Given the description of an element on the screen output the (x, y) to click on. 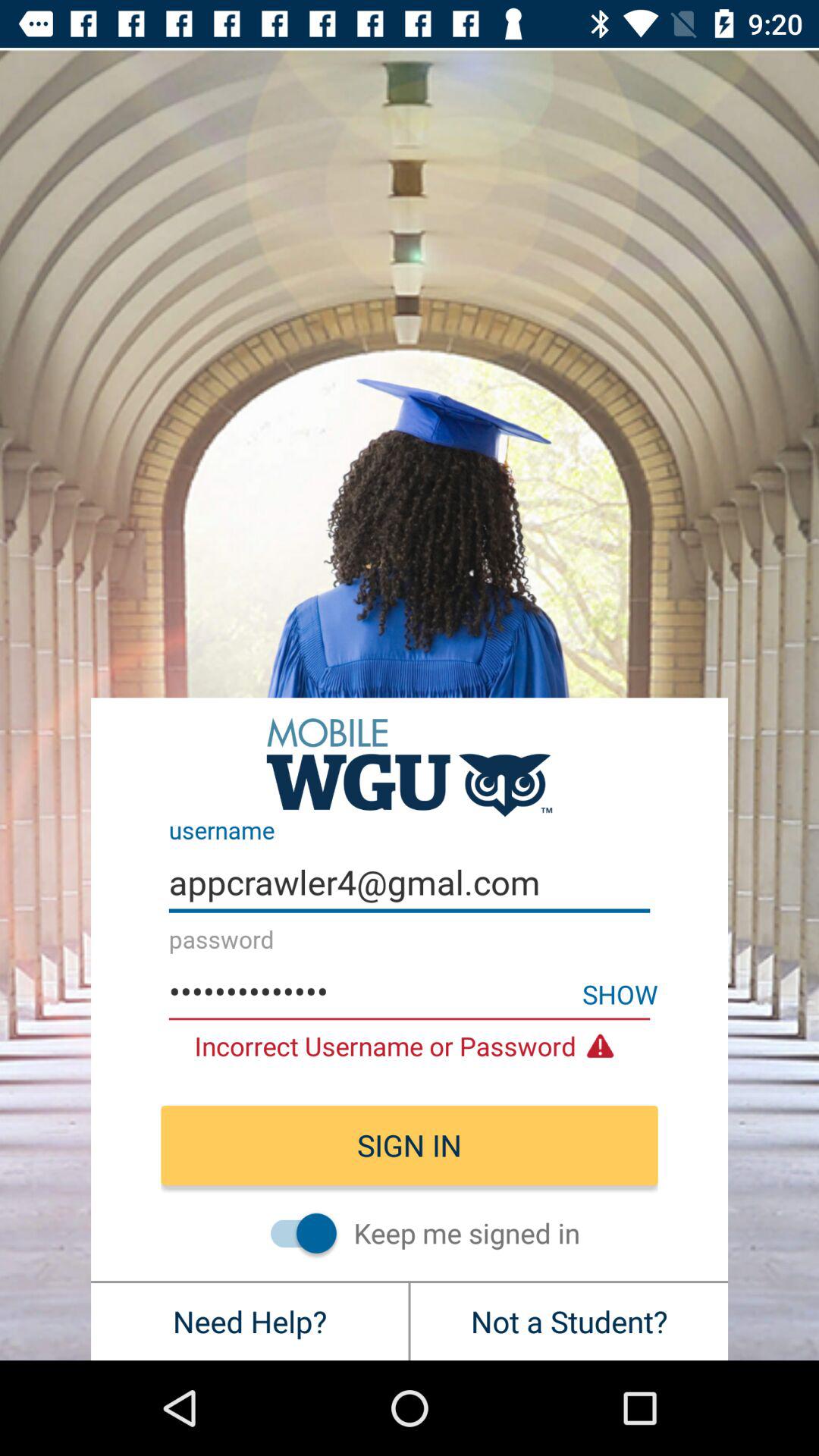
scroll to appcrawler4@gmal.com (409, 882)
